Given the description of an element on the screen output the (x, y) to click on. 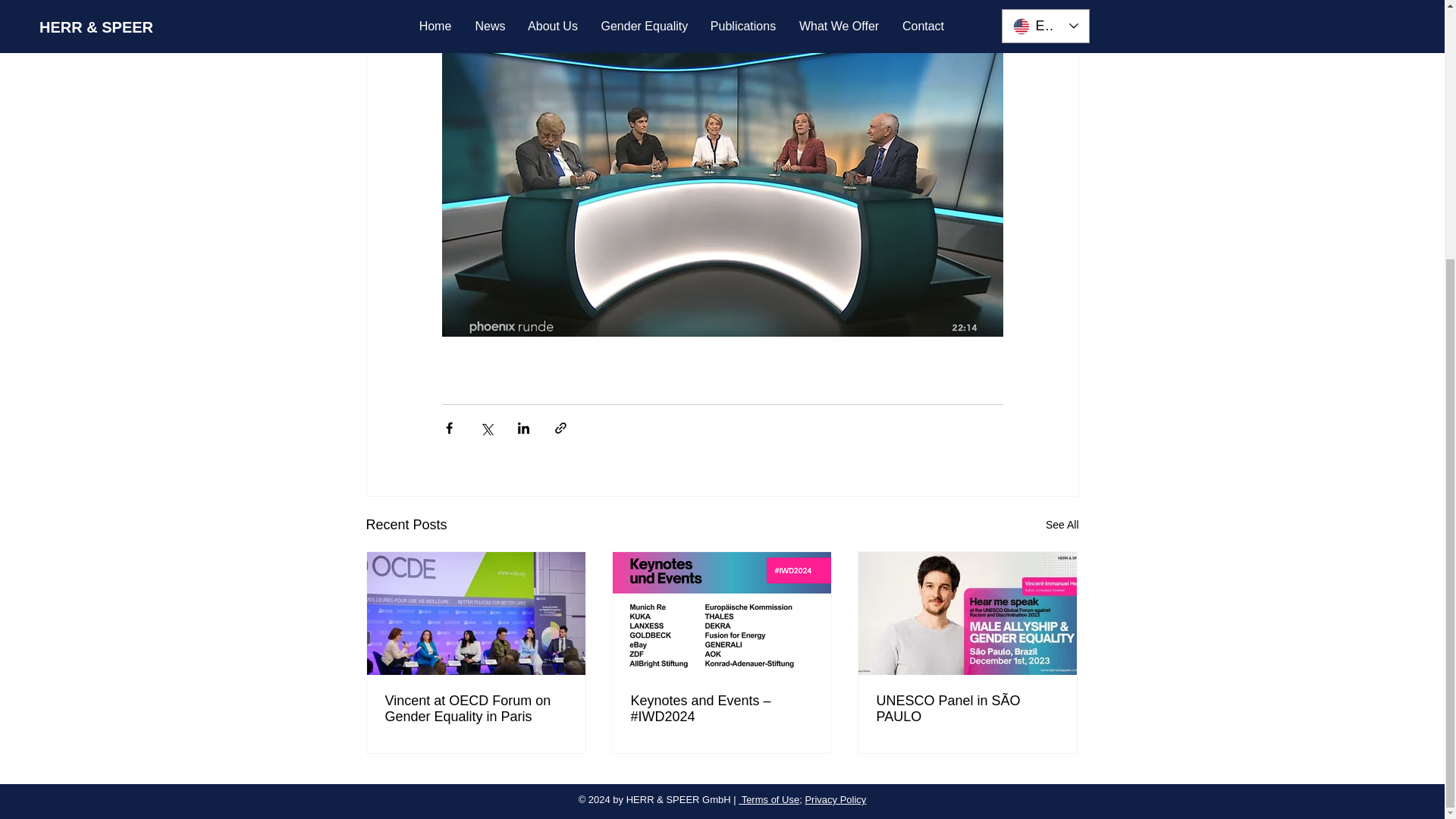
Vincent at OECD Forum on Gender Equality in Paris (476, 708)
See All (1061, 525)
Terms of Use (768, 799)
Privacy Policy (835, 799)
